Given the description of an element on the screen output the (x, y) to click on. 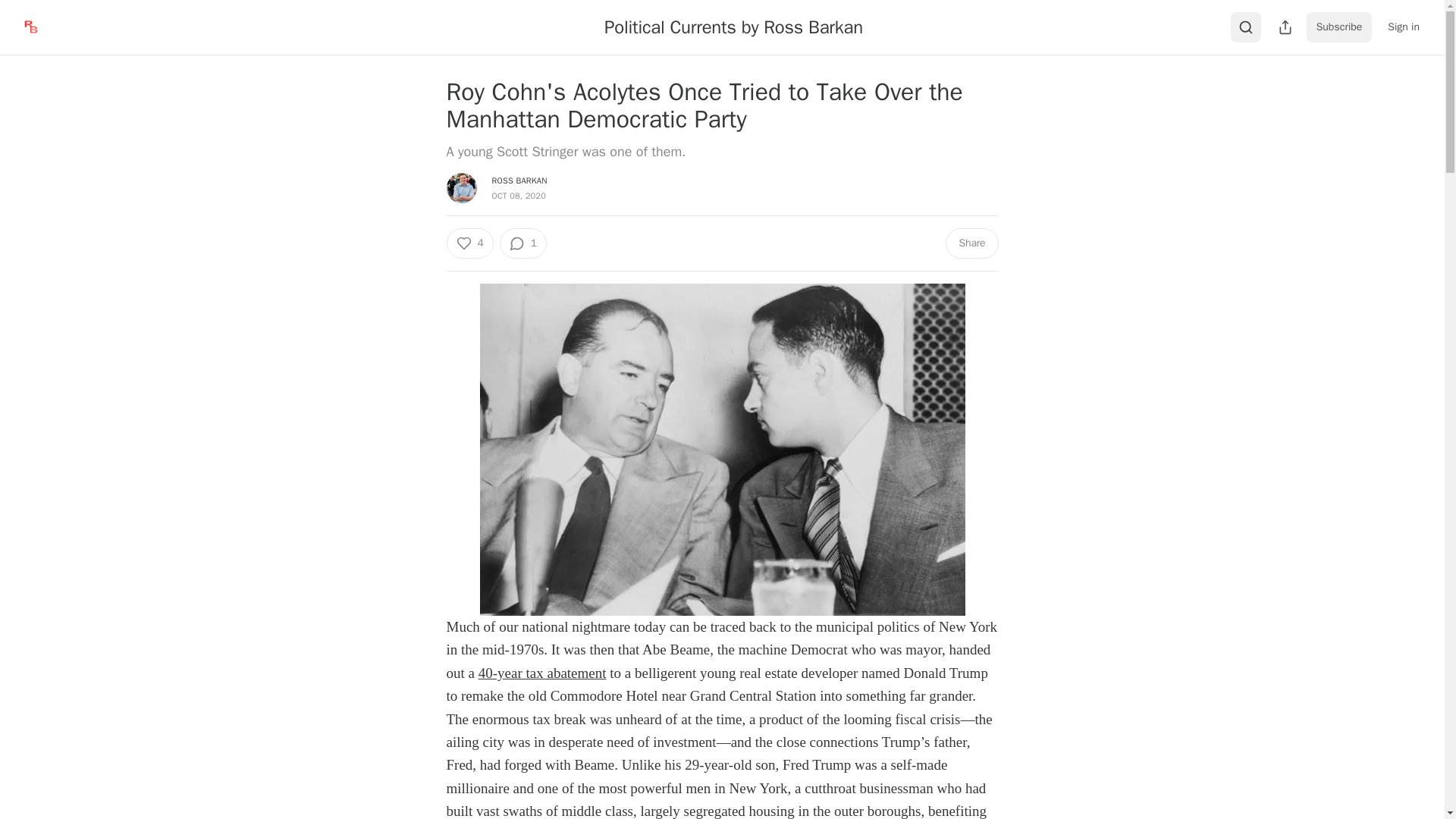
Political Currents by Ross Barkan (733, 26)
40-year tax abatement (543, 672)
1 (523, 243)
4 (469, 243)
ROSS BARKAN (519, 180)
Subscribe (1339, 27)
Share (970, 243)
Sign in (1403, 27)
